Given the description of an element on the screen output the (x, y) to click on. 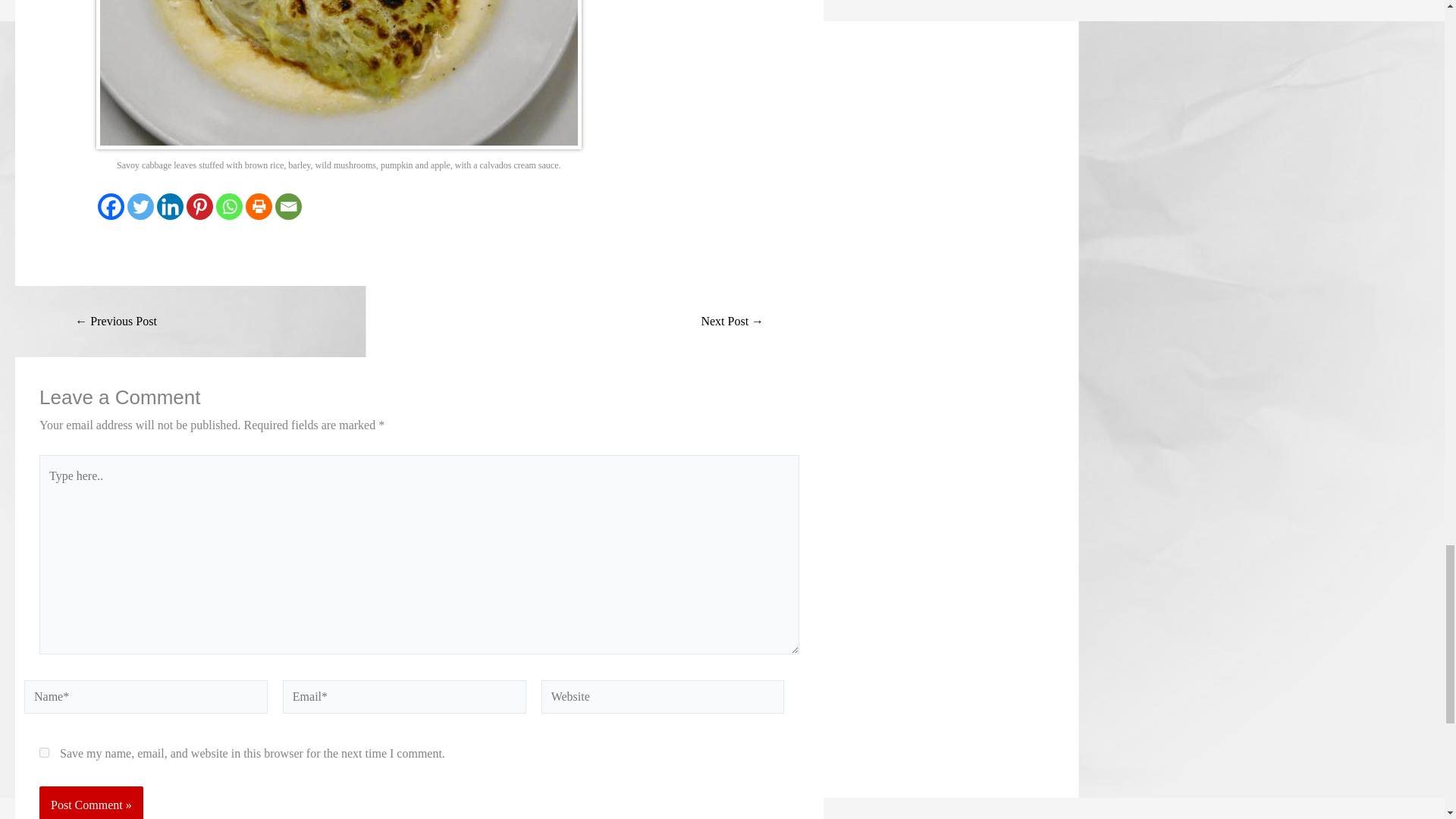
Linkedin (170, 206)
Twitter (141, 206)
yes (44, 752)
Pinterest (199, 206)
Facebook (110, 206)
